Given the description of an element on the screen output the (x, y) to click on. 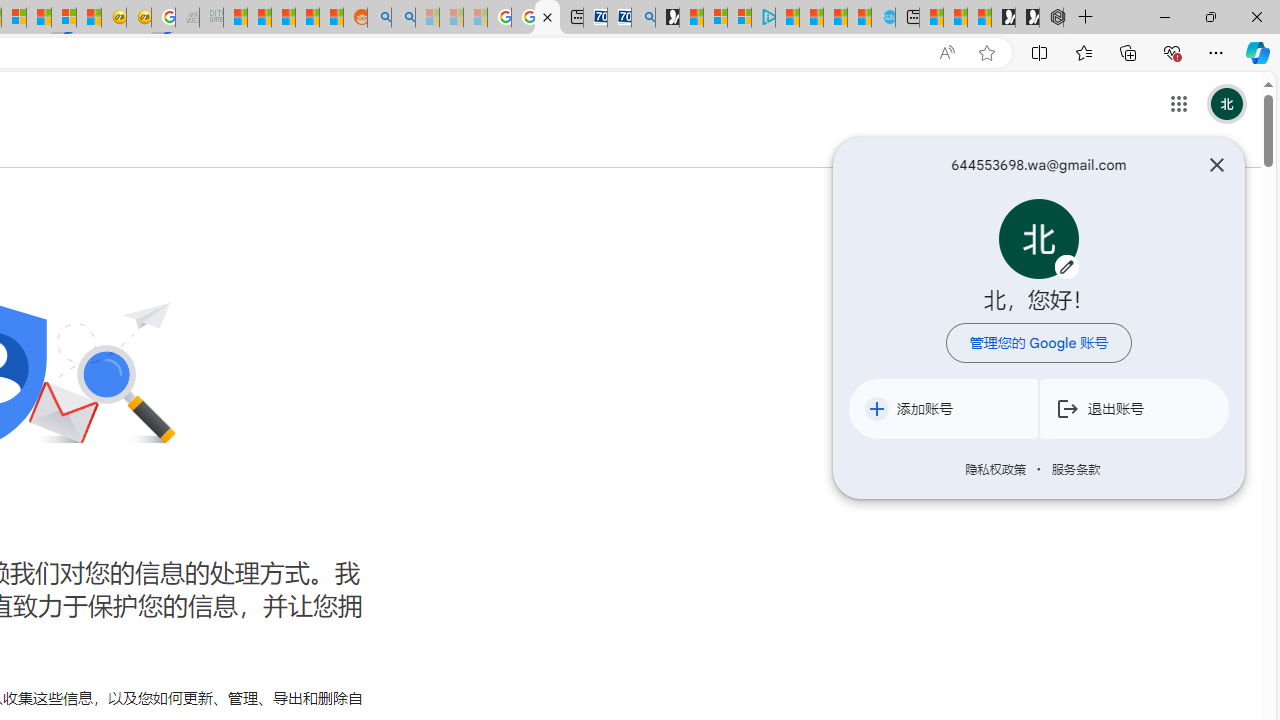
Class:  NMm5M (1068, 408)
Utah sues federal government - Search (402, 17)
